Given the description of an element on the screen output the (x, y) to click on. 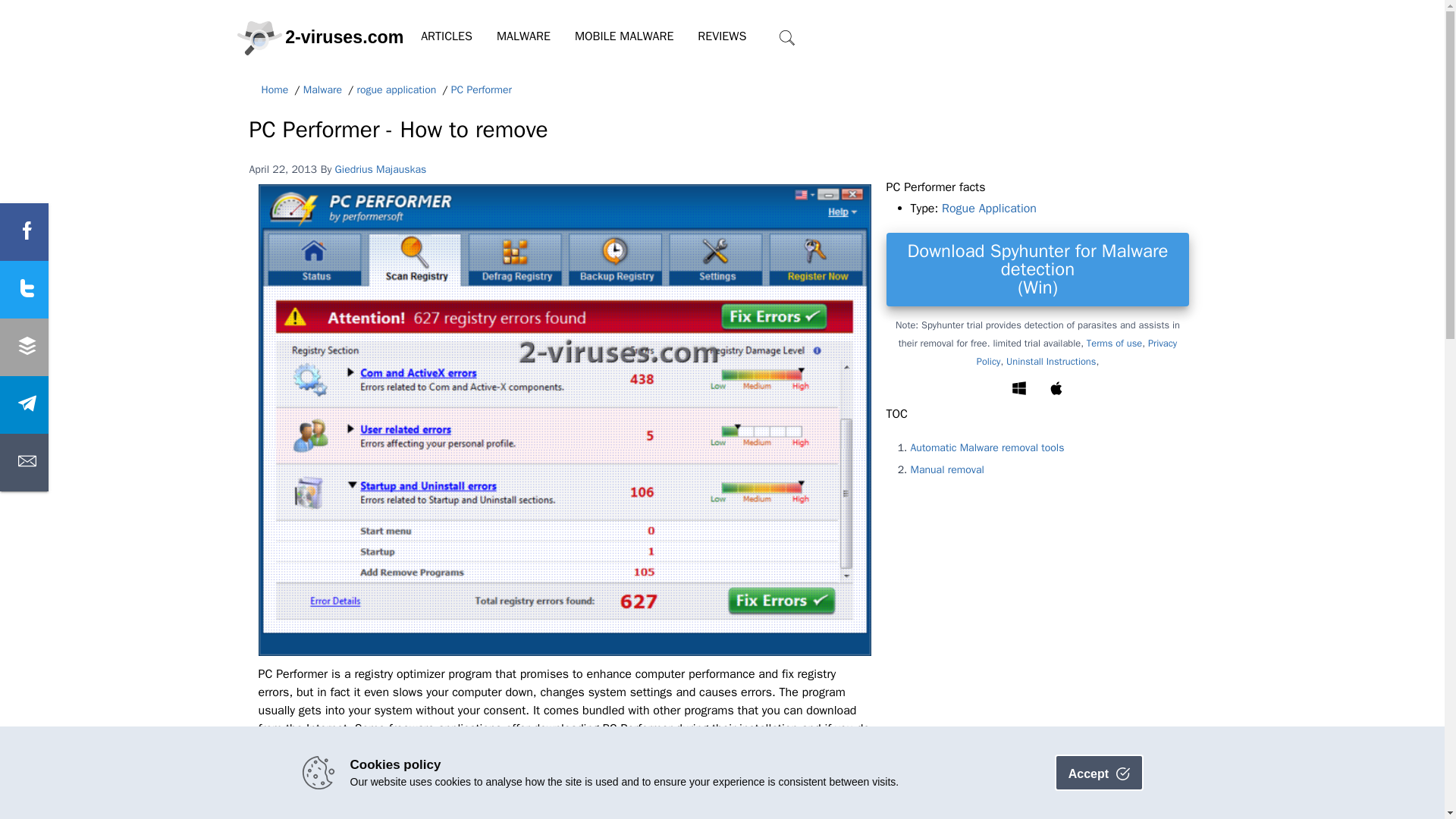
Home (274, 90)
ARTICLES (446, 36)
rogue application (395, 90)
MOBILE MALWARE (623, 36)
Privacy Policy (1076, 351)
Malware (322, 90)
MALWARE (523, 36)
Rogue Application (989, 207)
Terms of use (1113, 342)
PC Performer (481, 90)
Uninstall Instructions (1051, 360)
REVIEWS (721, 36)
Giedrius Majauskas (380, 169)
